Given the description of an element on the screen output the (x, y) to click on. 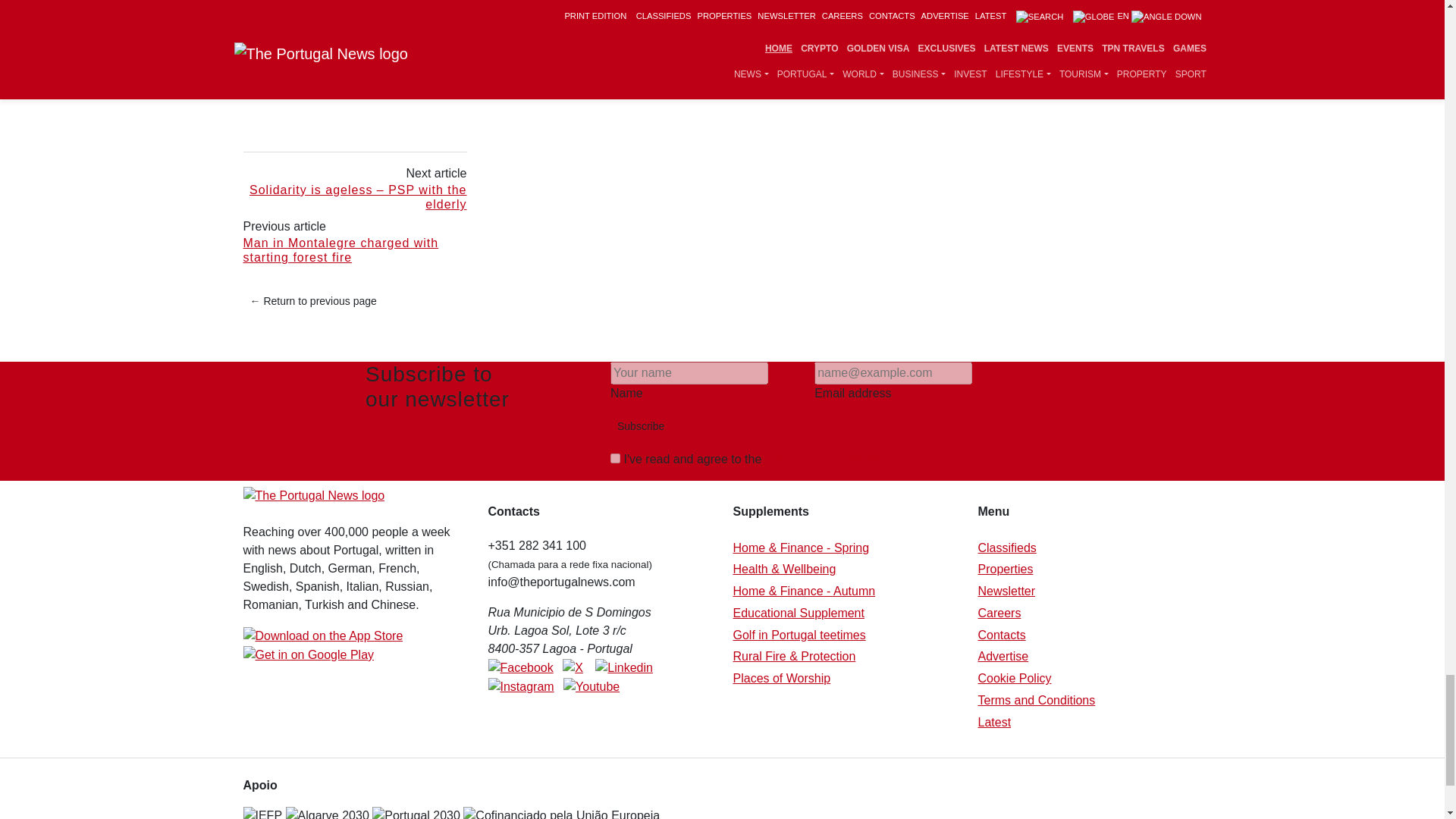
on (615, 458)
